Given the description of an element on the screen output the (x, y) to click on. 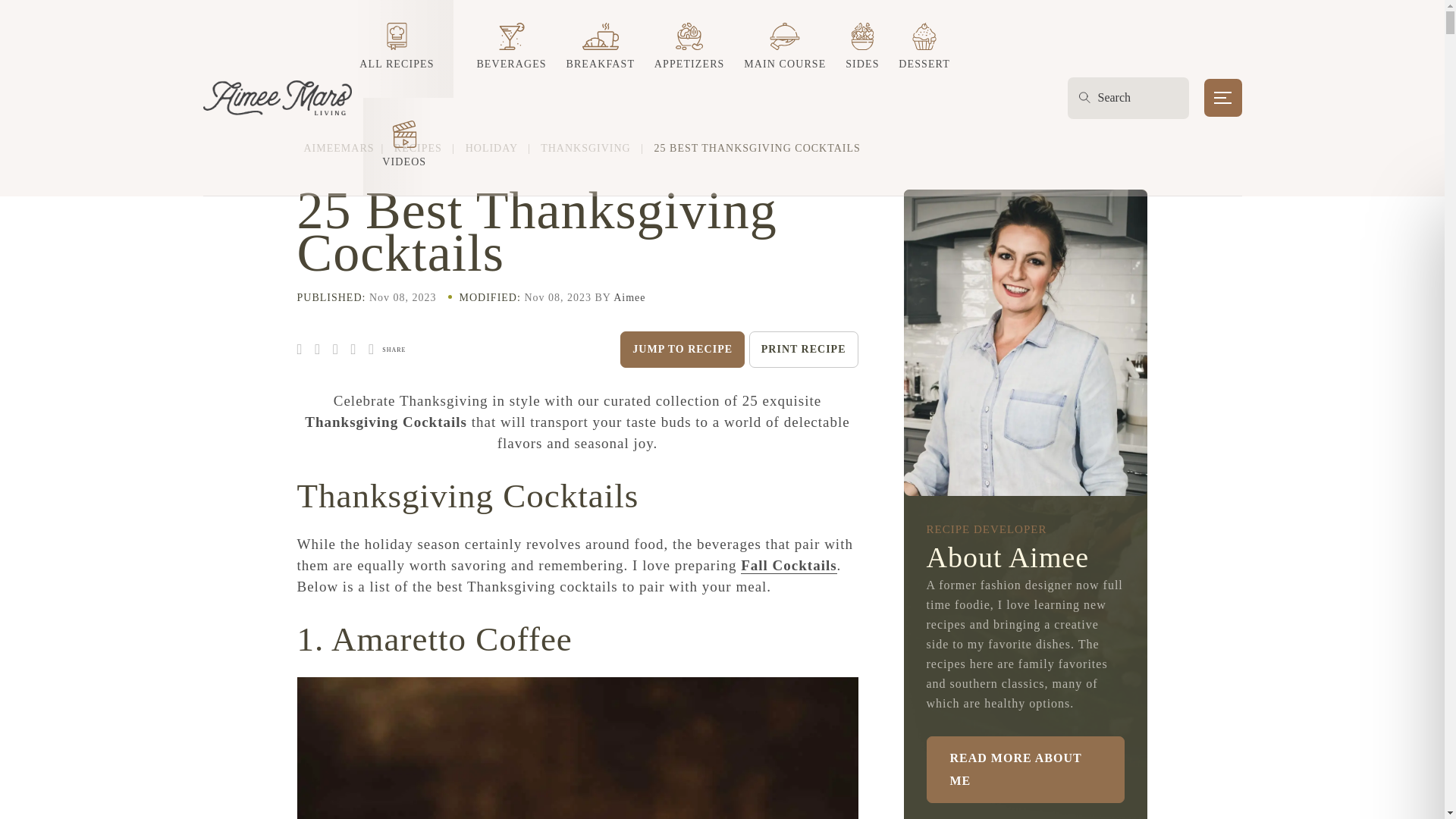
MAIN COURSE (784, 48)
ALL RECIPES (402, 48)
